Given the description of an element on the screen output the (x, y) to click on. 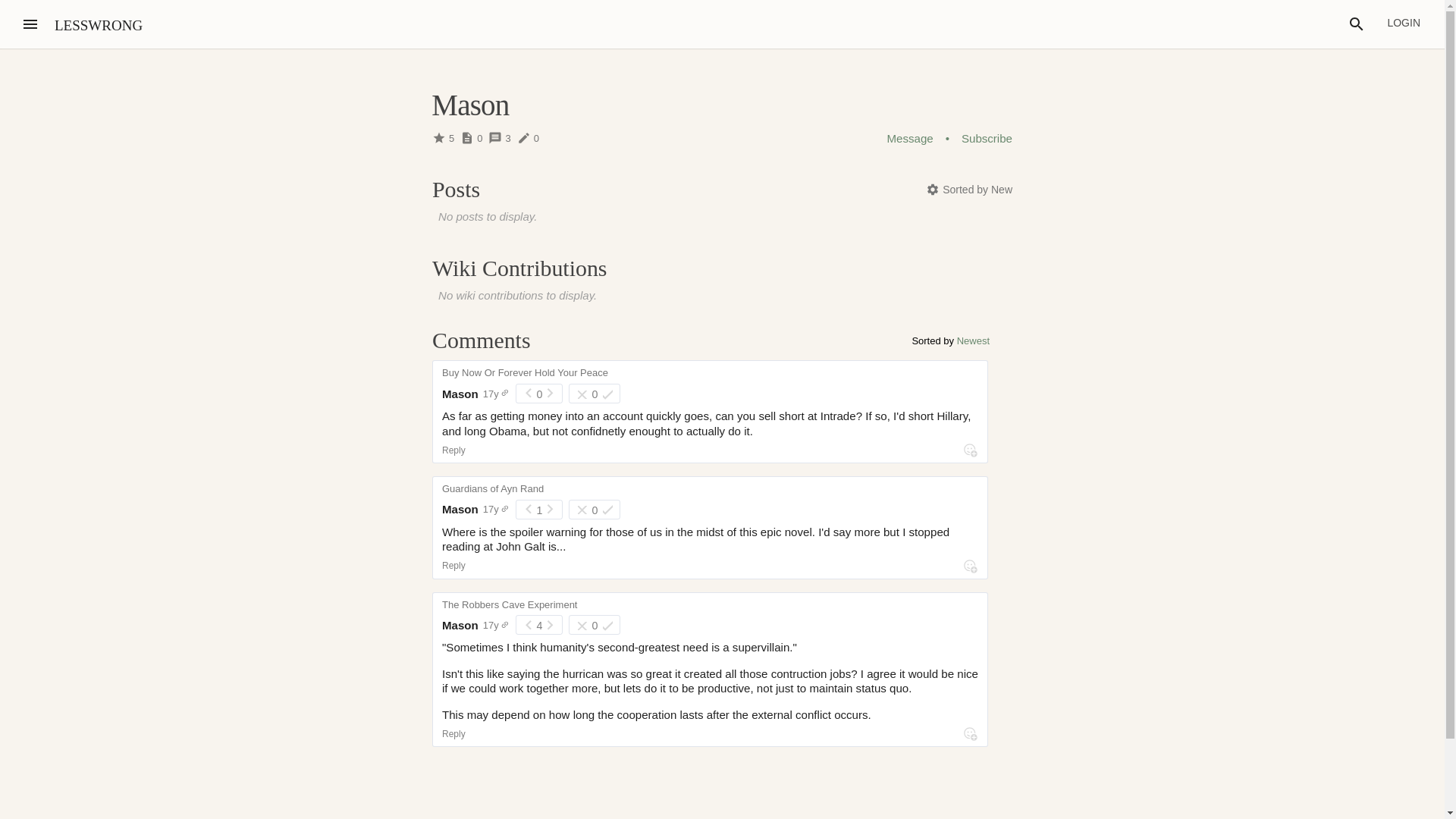
Newest (973, 340)
Comments (481, 339)
Buy Now Or Forever Hold Your Peace (525, 369)
0 wiki edits (530, 138)
LESSWRONG (98, 25)
Reply (453, 733)
0 posts (473, 138)
Reply (453, 565)
Guardians of Ayn Rand (492, 485)
5 karma (446, 138)
